Given the description of an element on the screen output the (x, y) to click on. 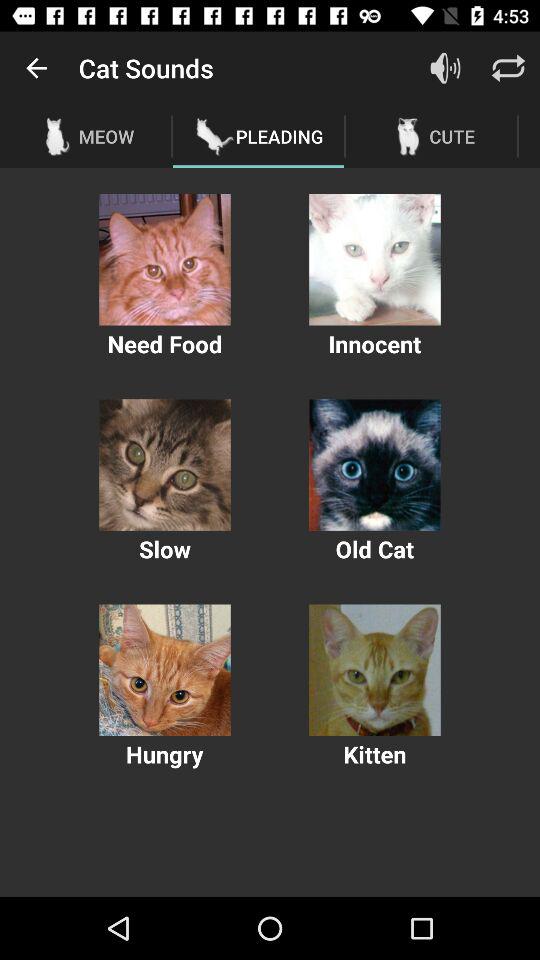
select a cat sound (164, 259)
